Given the description of an element on the screen output the (x, y) to click on. 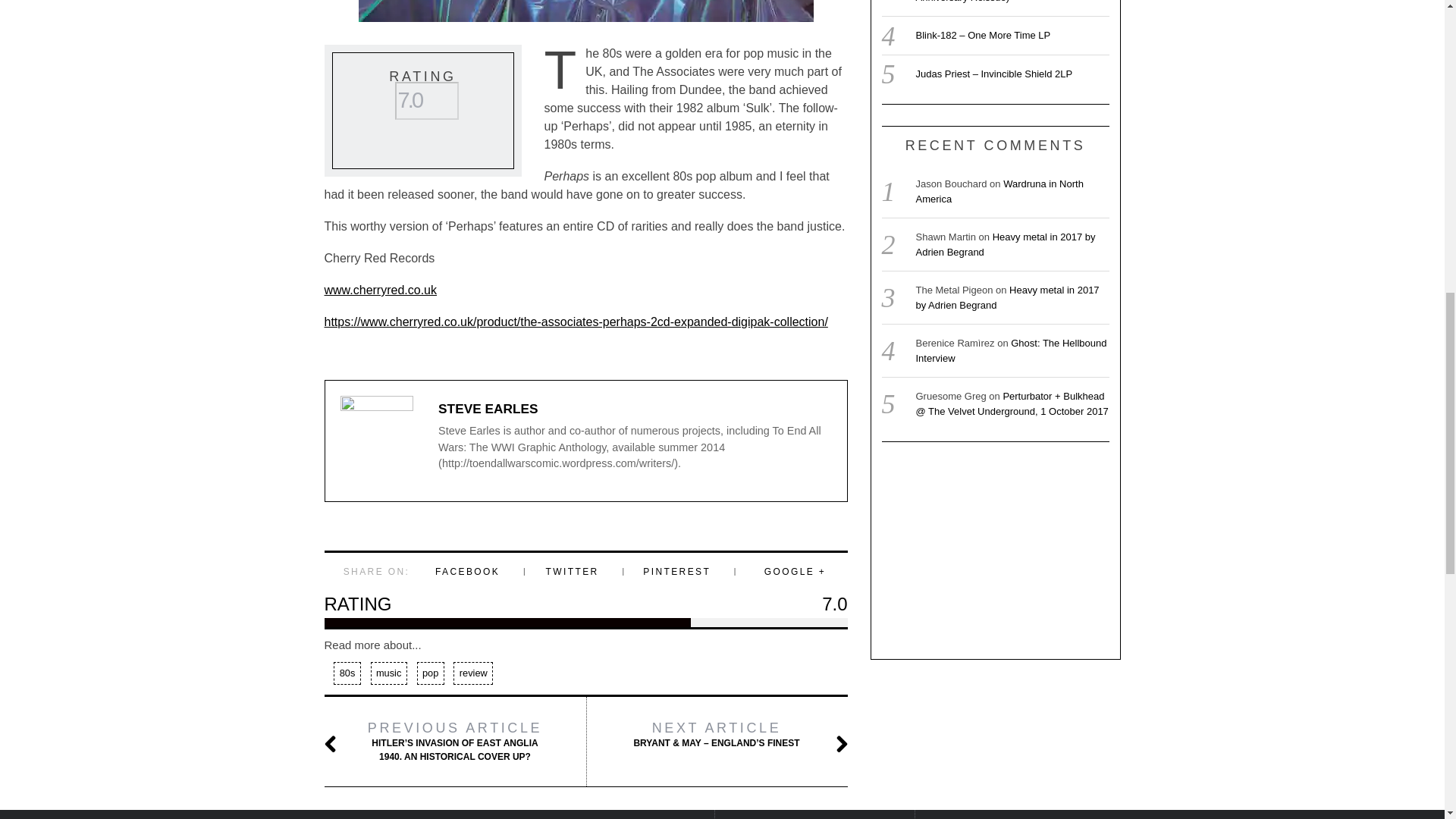
7.0 (426, 100)
